Given the description of an element on the screen output the (x, y) to click on. 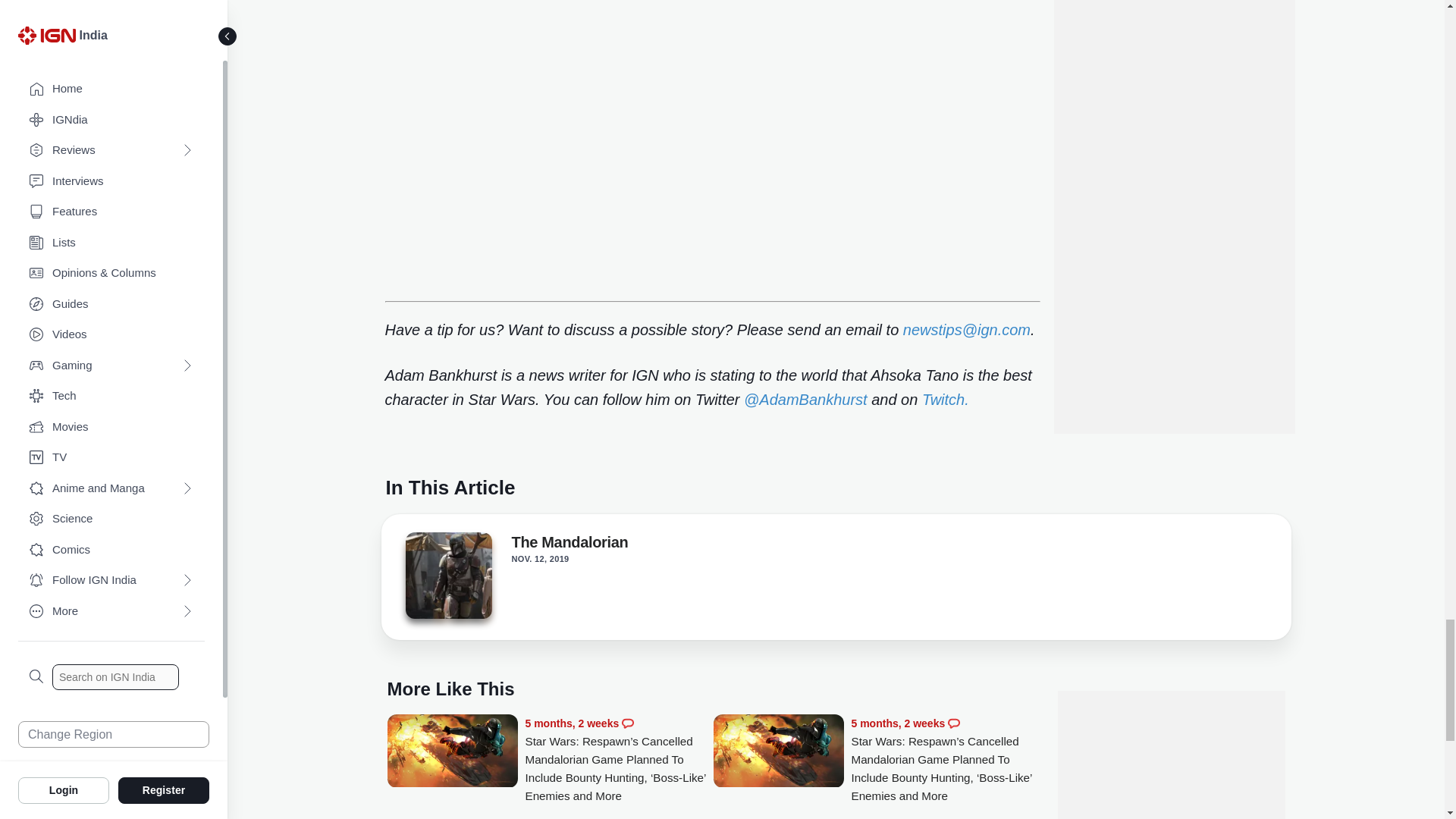
The Mandalorian (448, 575)
The Mandalorian (448, 580)
The Mandalorian (569, 544)
